Given the description of an element on the screen output the (x, y) to click on. 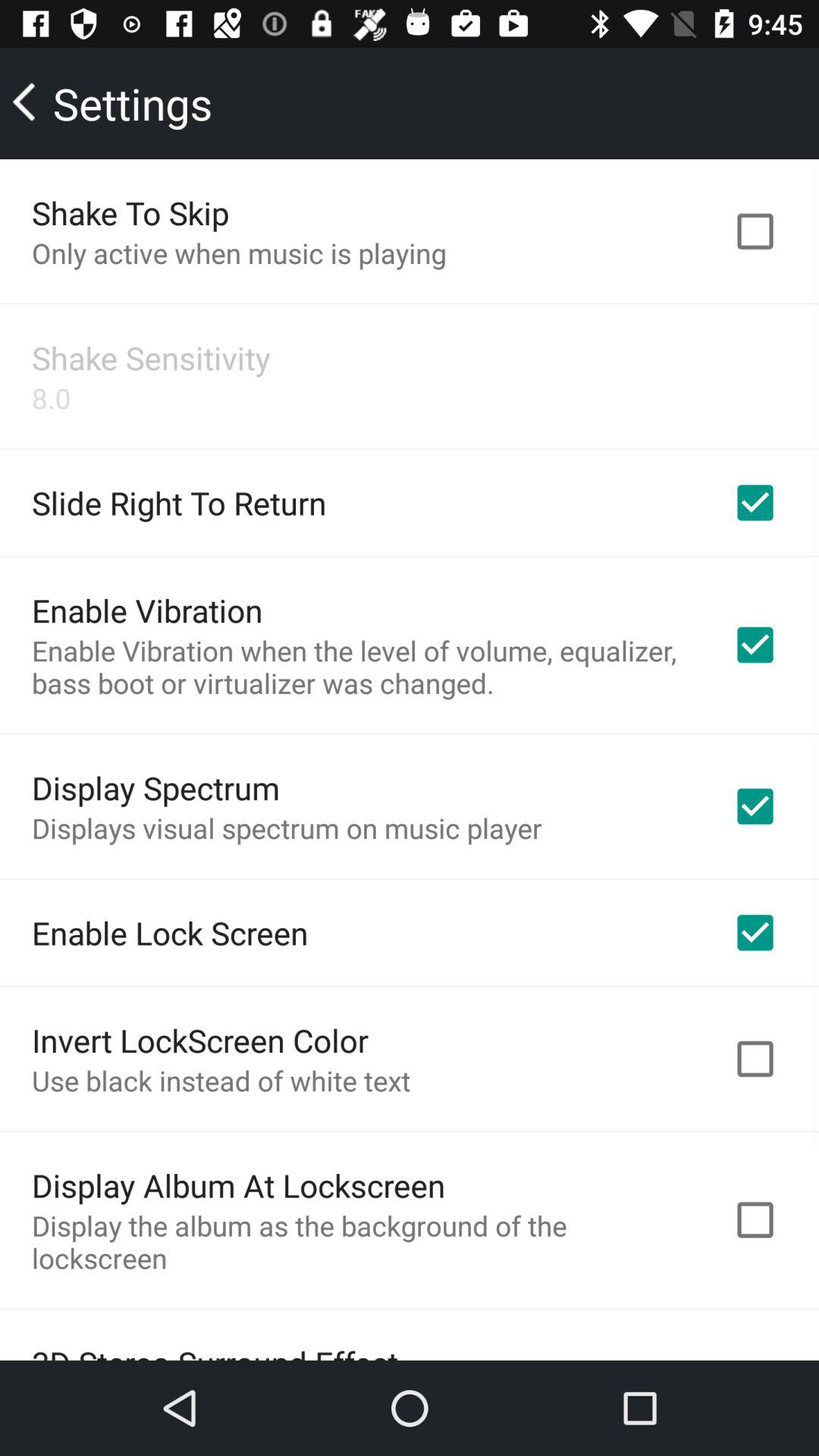
choose the app above the slide right to item (51, 397)
